Given the description of an element on the screen output the (x, y) to click on. 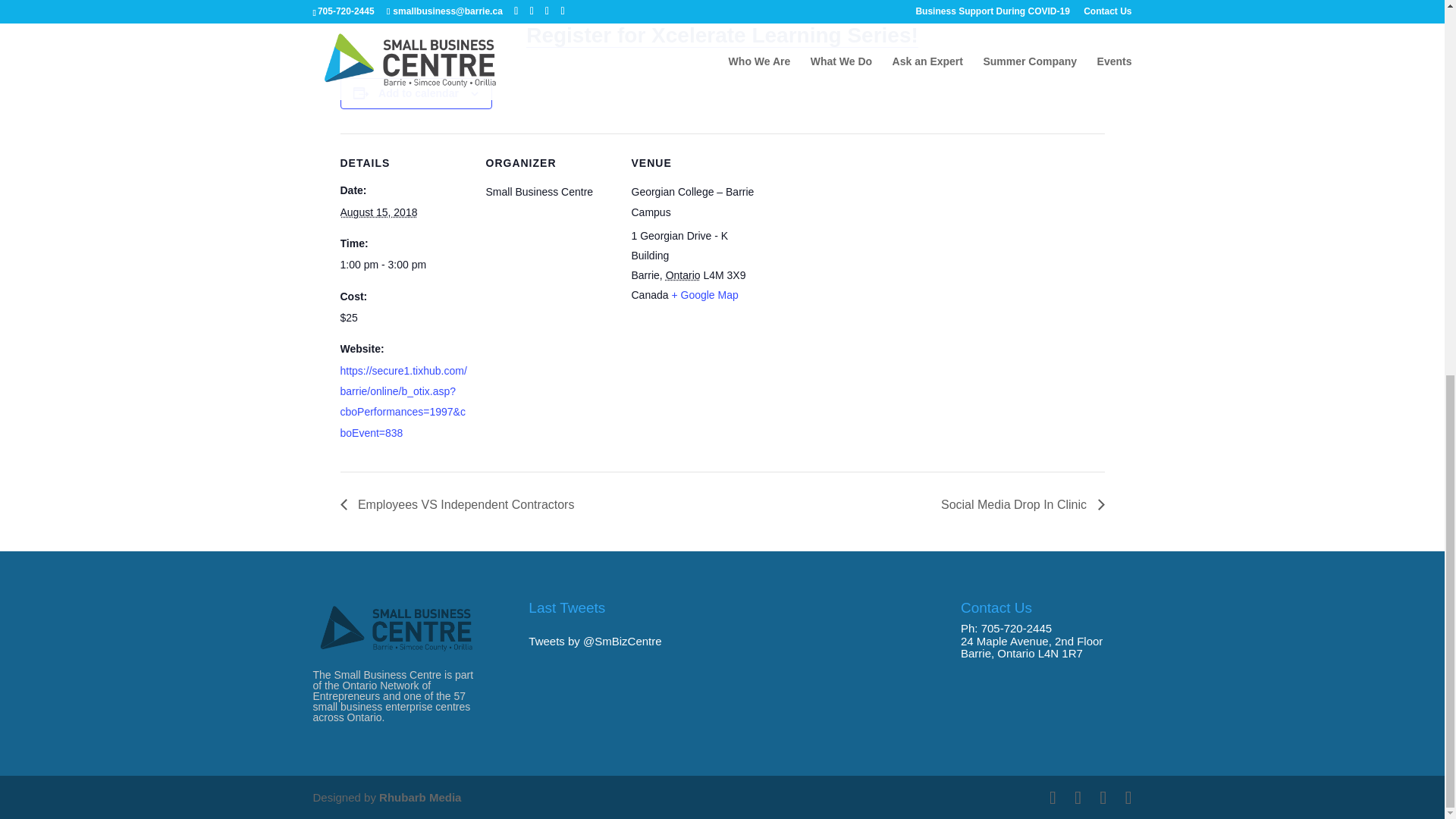
Ontario (682, 275)
Add to calendar (418, 92)
Social Media Drop In Clinic (1019, 504)
2018-08-15 (403, 264)
Rhubarb Media (419, 797)
Click to view a Google Map (704, 295)
Rhubarb Media (419, 797)
2018-08-15 (377, 212)
Register for Xcelerate Learning Series! (721, 35)
Employees VS Independent Contractors (460, 504)
